Given the description of an element on the screen output the (x, y) to click on. 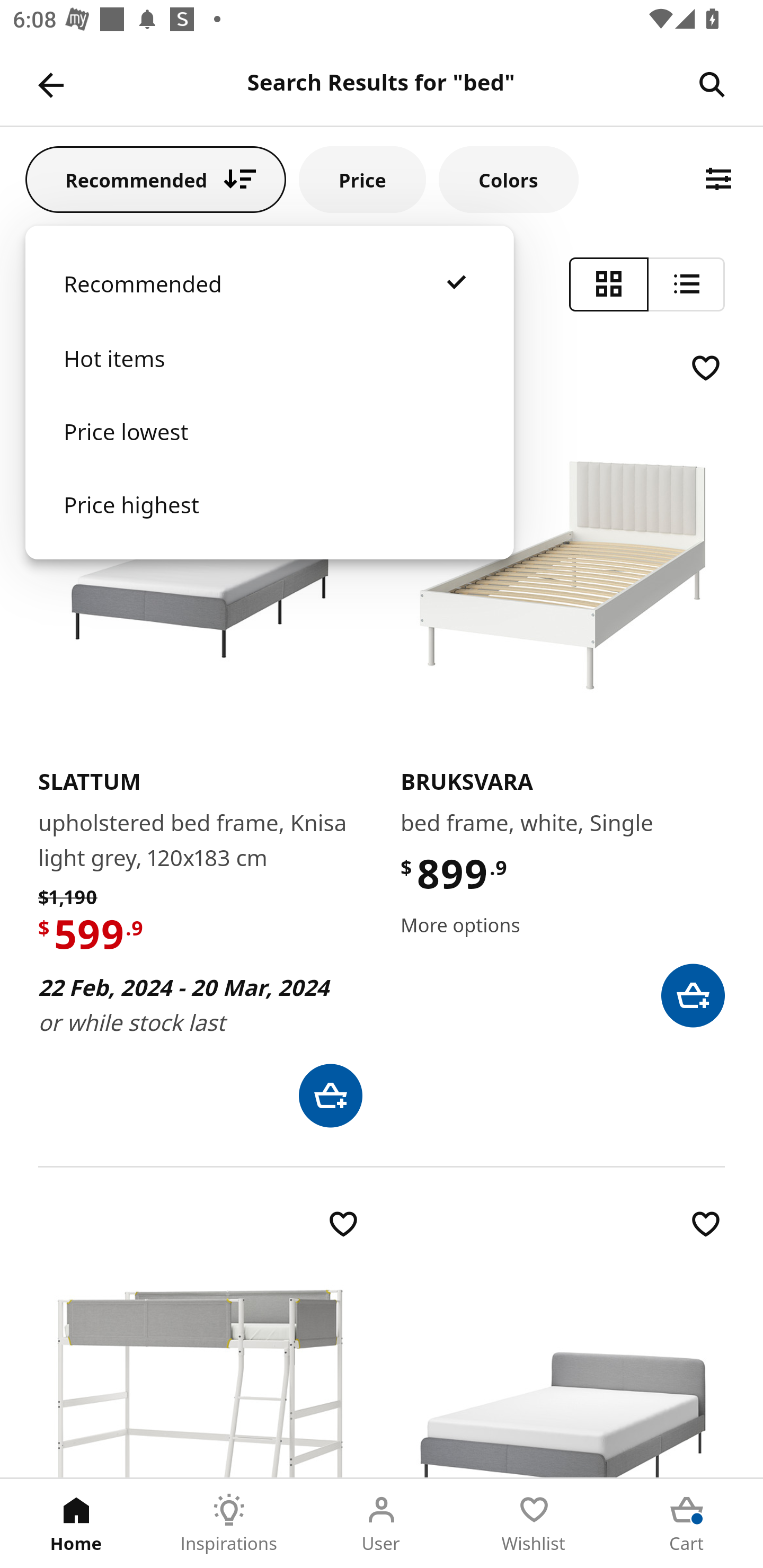
Recommended (155, 179)
Price (362, 179)
Colors (508, 179)
Recommended (269, 301)
Hot items (269, 376)
Price lowest (269, 449)
Price highest (269, 522)
Home
Tab 1 of 5 (76, 1522)
Inspirations
Tab 2 of 5 (228, 1522)
User
Tab 3 of 5 (381, 1522)
Wishlist
Tab 4 of 5 (533, 1522)
Cart
Tab 5 of 5 (686, 1522)
